Given the description of an element on the screen output the (x, y) to click on. 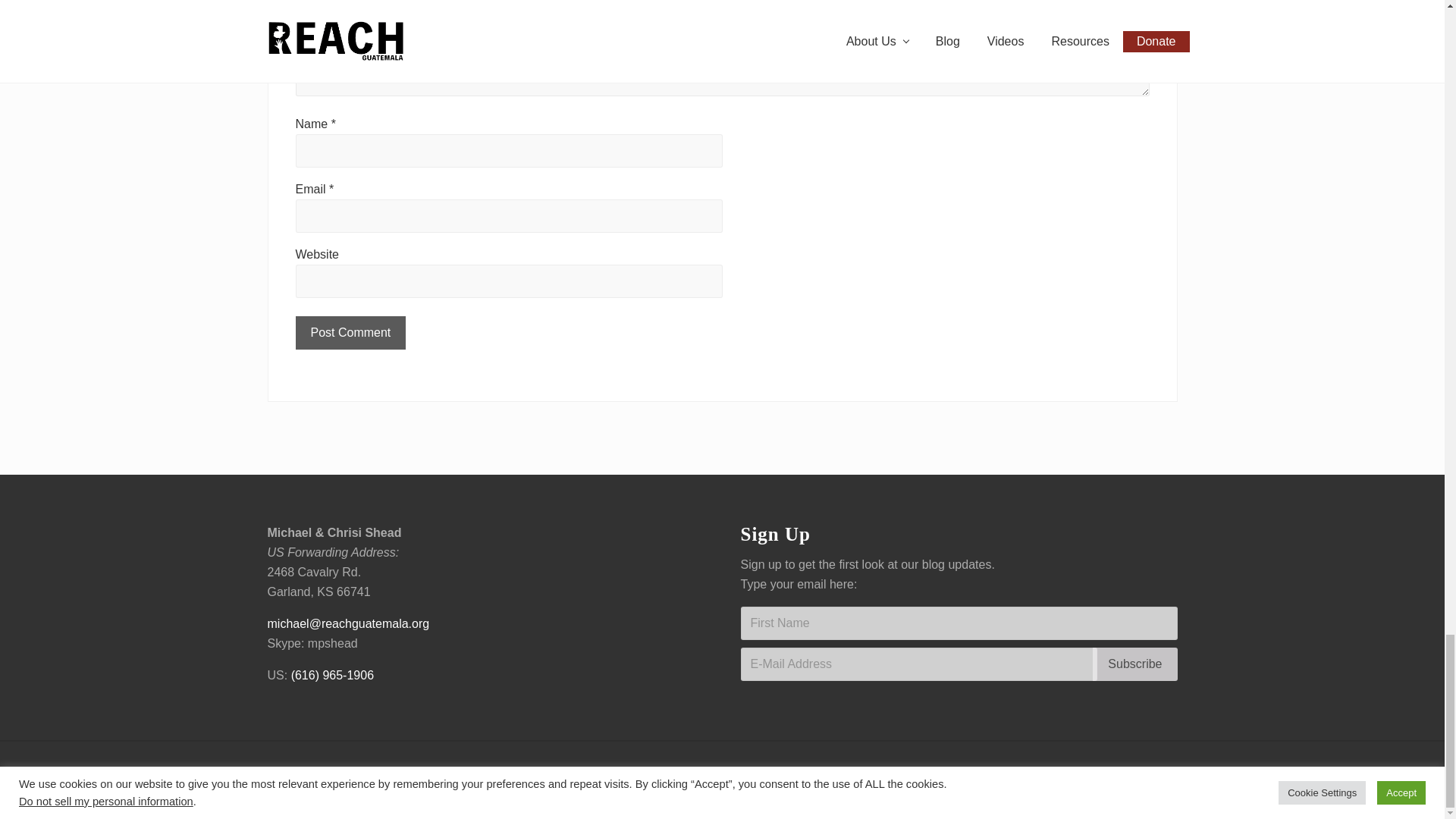
Reach Guatemala (659, 771)
Subscribe (1134, 663)
Post Comment (350, 332)
